Given the description of an element on the screen output the (x, y) to click on. 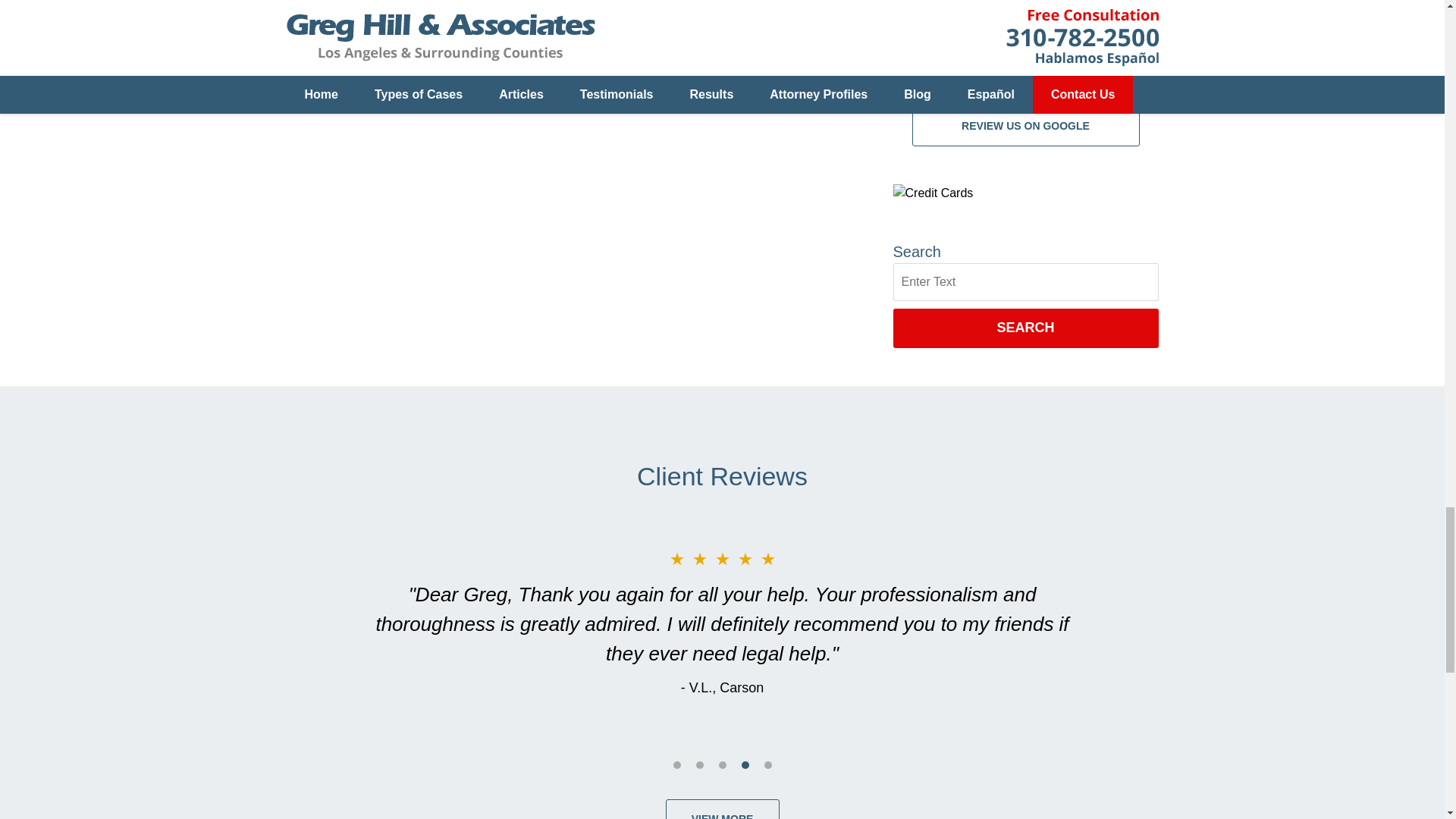
Search (1025, 281)
